Given the description of an element on the screen output the (x, y) to click on. 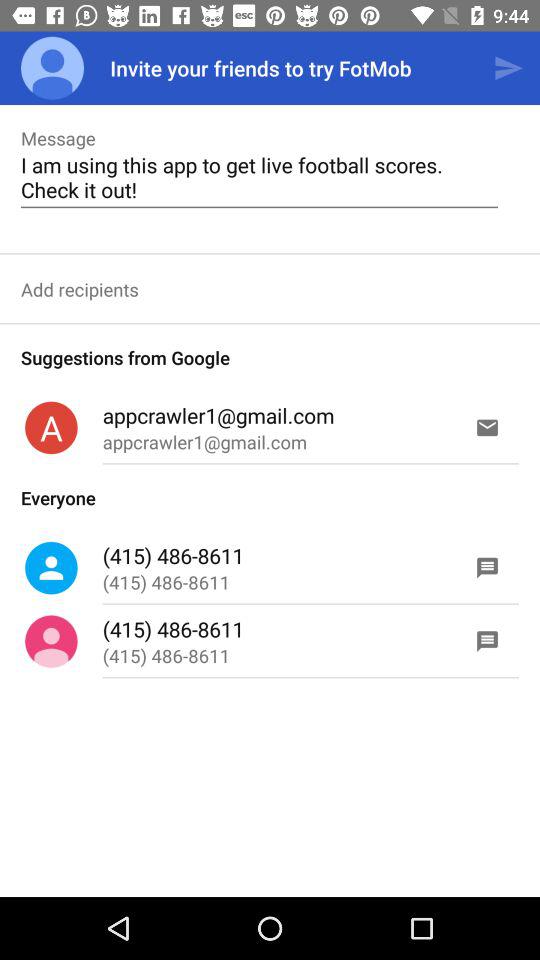
open icon to the right of the invite your friends icon (508, 67)
